Given the description of an element on the screen output the (x, y) to click on. 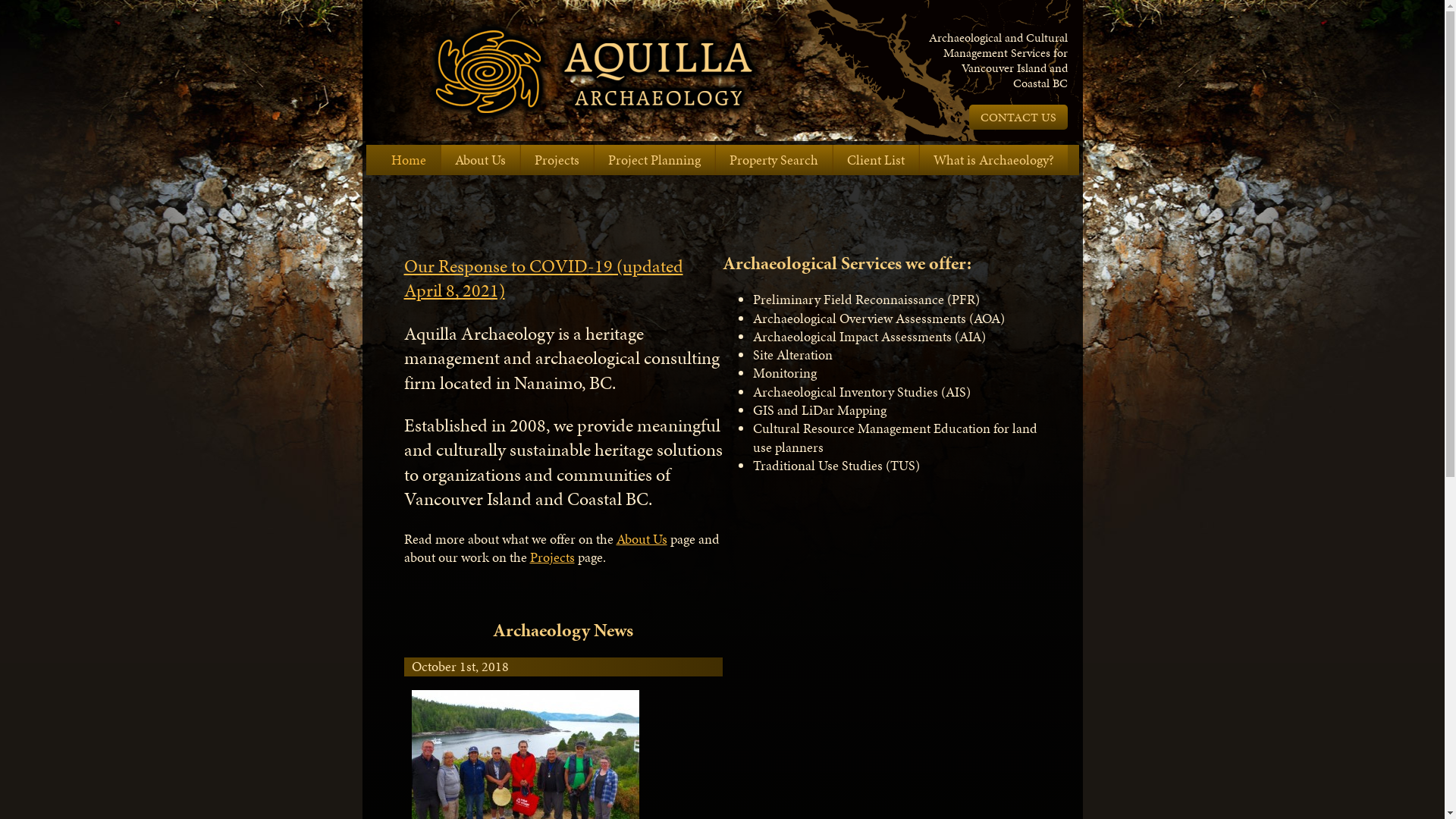
About Us Element type: text (480, 159)
What is Archaeology? Element type: text (992, 159)
About Us Element type: text (640, 538)
Home Element type: text (408, 159)
Property Search Element type: text (773, 159)
Client List Element type: text (874, 159)
Projects Element type: text (555, 159)
CONTACT US Element type: text (1018, 116)
Our Response to COVID-19 (updated April 8, 2021) Element type: text (542, 278)
Project Planning Element type: text (654, 159)
Projects Element type: text (551, 556)
